Given the description of an element on the screen output the (x, y) to click on. 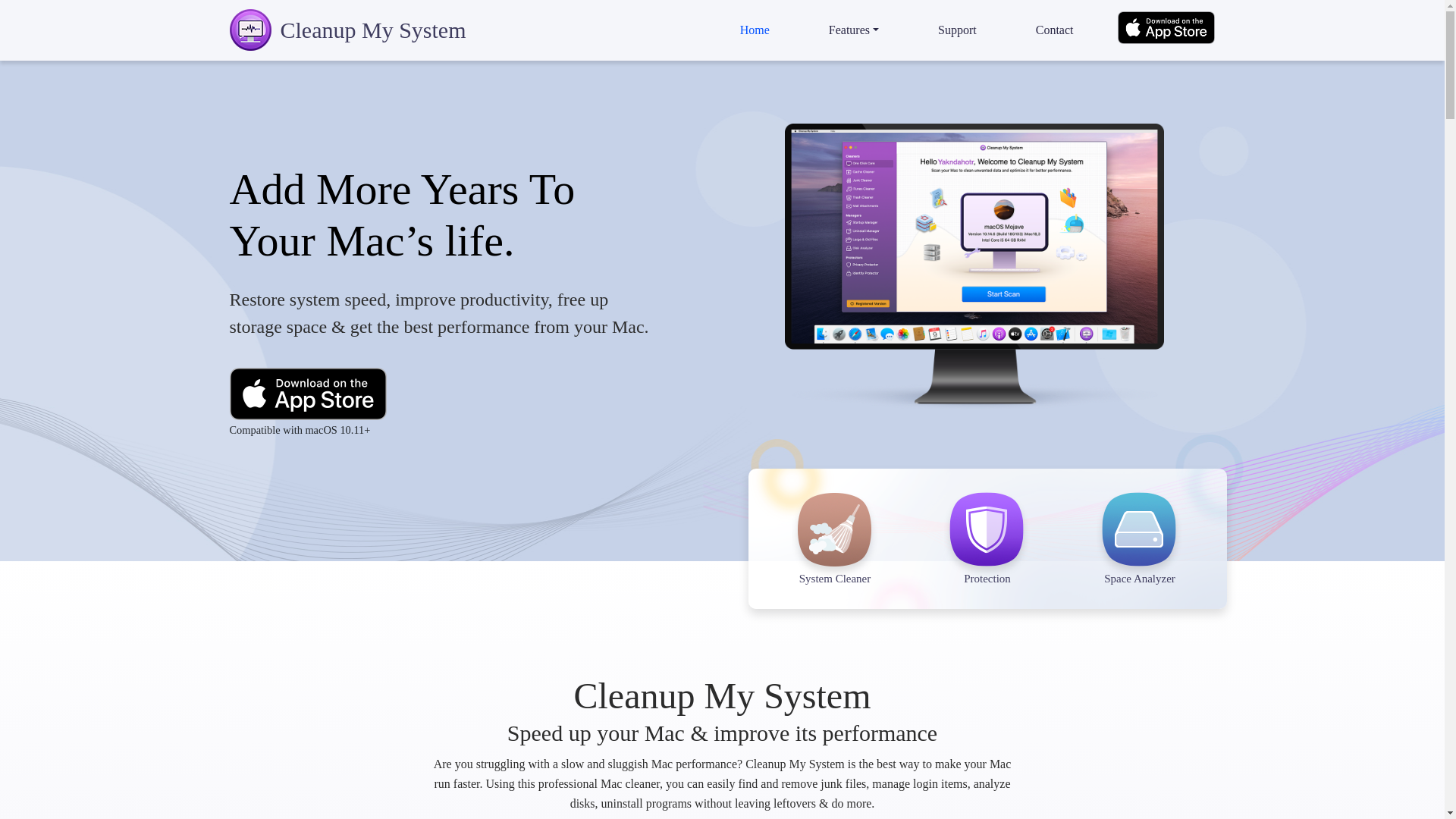
Download (1165, 27)
Features (853, 30)
Cleanup My System (346, 29)
Home (754, 30)
Contact (1054, 30)
Space Analyzer (1139, 556)
Support (956, 30)
Support (956, 30)
System Cleaner (835, 556)
Features (853, 30)
Protection (986, 556)
Contact Us (1054, 30)
Home (754, 30)
